Given the description of an element on the screen output the (x, y) to click on. 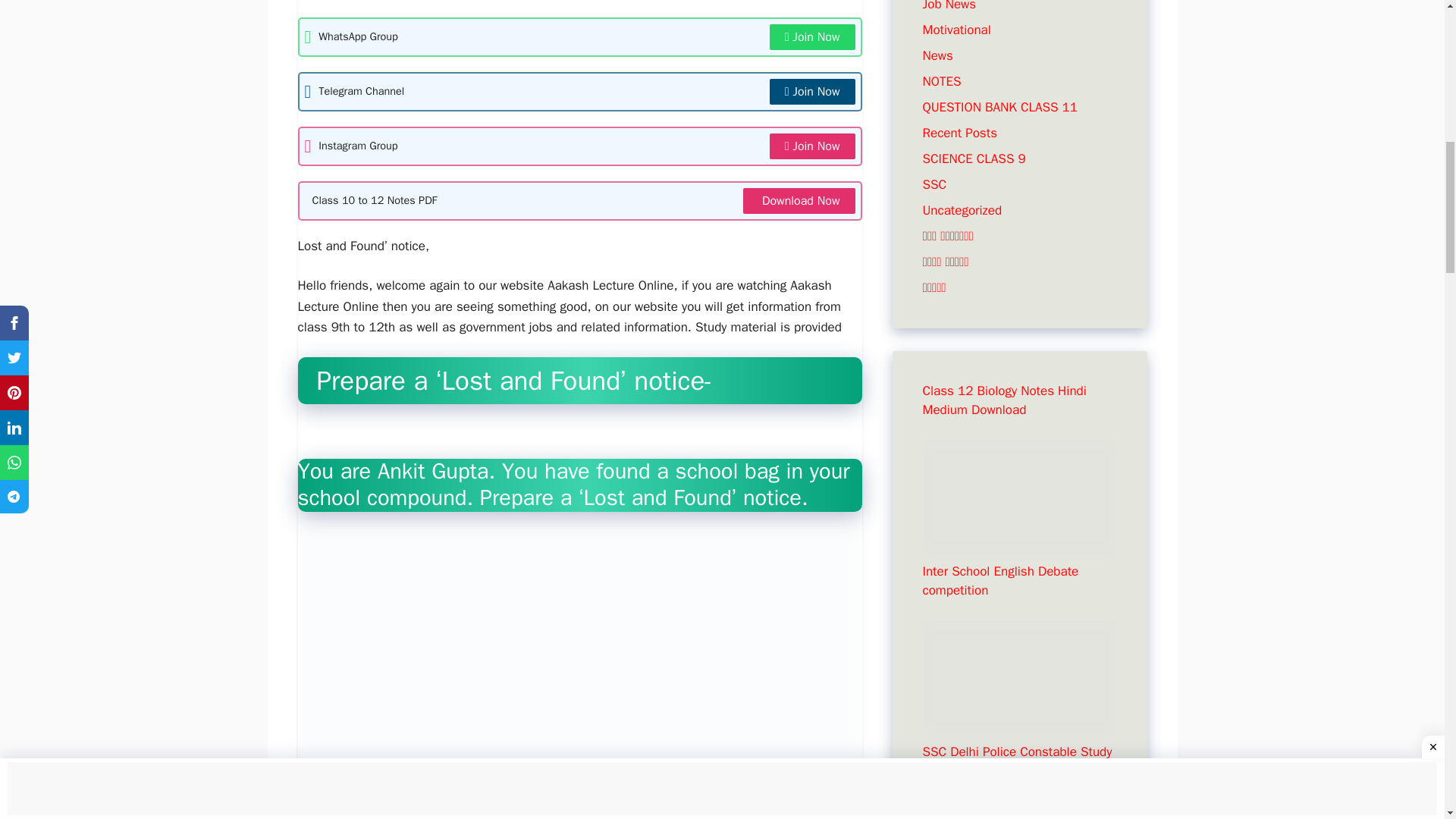
Join Now (813, 145)
Join Now (813, 91)
Join Now (813, 36)
Download Now (799, 200)
